Given the description of an element on the screen output the (x, y) to click on. 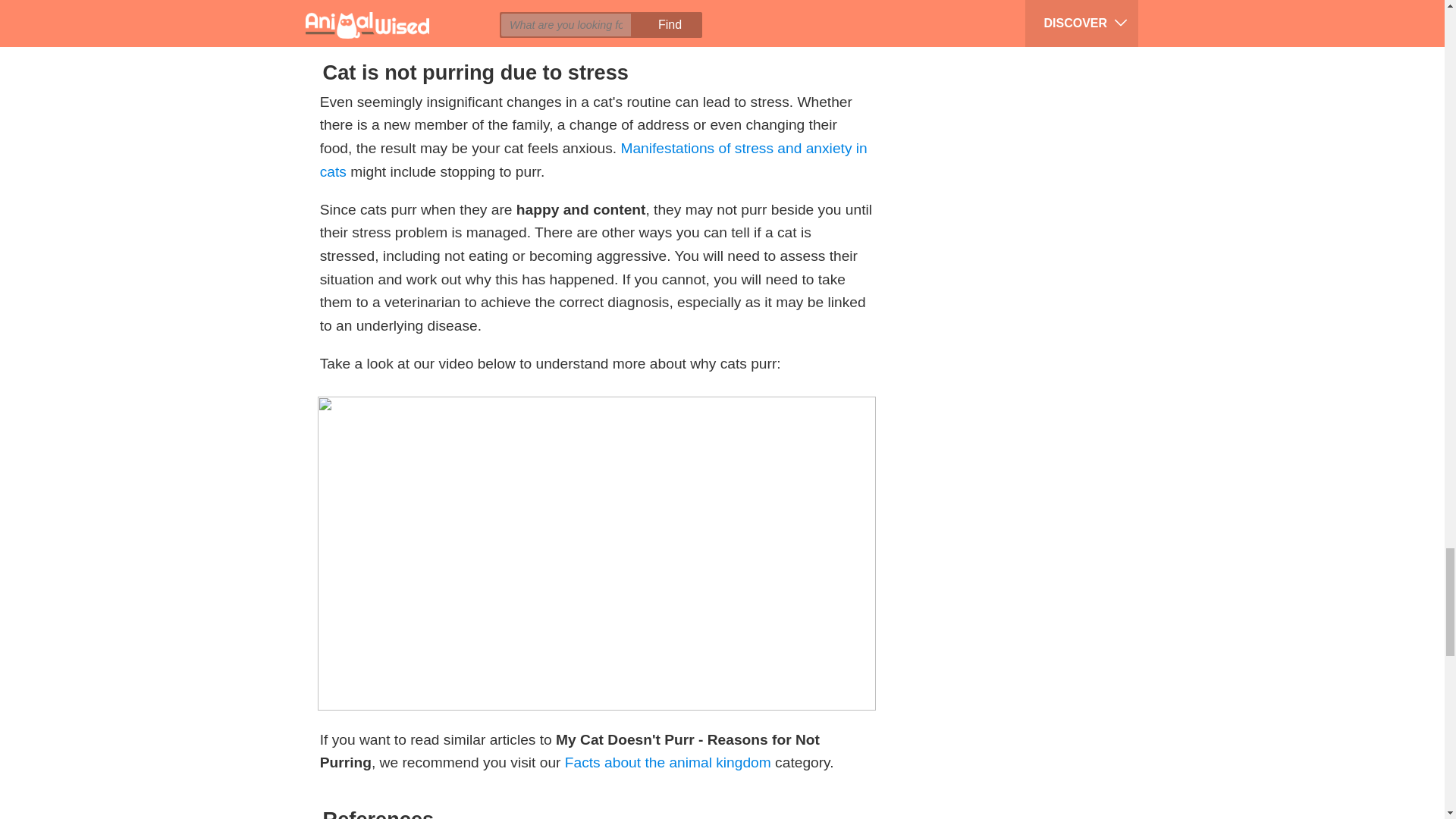
Facts about the animal kingdom (667, 762)
